Given the description of an element on the screen output the (x, y) to click on. 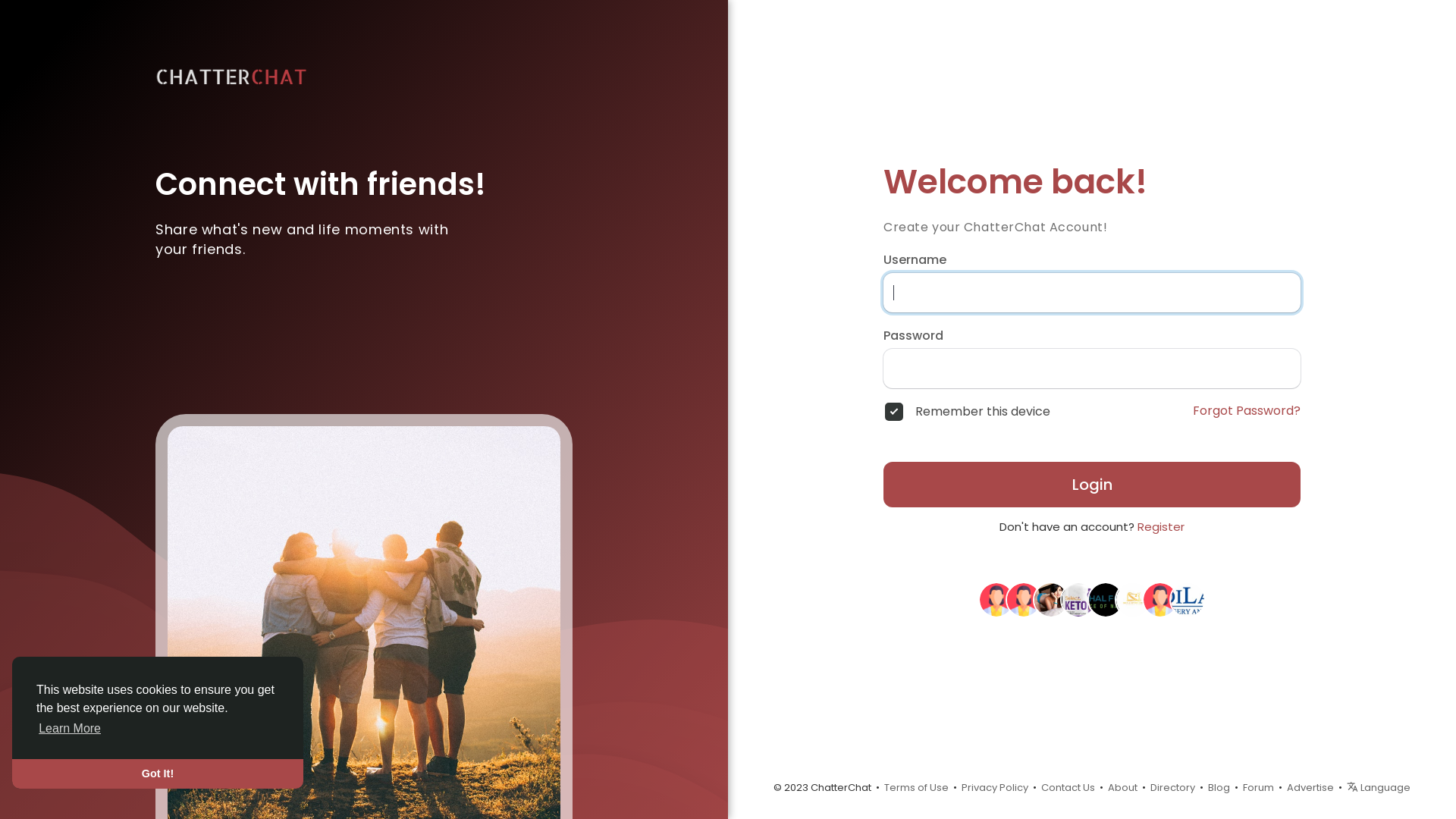
Got It! Element type: text (157, 773)
RealVitaKeto Element type: hover (996, 598)
Donnaa Barnett Element type: hover (1078, 598)
Learn More Element type: text (69, 728)
Contact Us Element type: text (1068, 787)
MedilaserCosmeticSurgery VeinCenter Element type: hover (1187, 598)
Register Element type: text (1160, 526)
andylrivera Element type: hover (1159, 598)
NuuDermaCream Element type: hover (1023, 598)
Terms of Use Element type: text (916, 787)
parulsinha Element type: hover (1050, 598)
Language Element type: text (1378, 787)
About Element type: text (1122, 787)
Directory Element type: text (1172, 787)
Srinath064 Element type: hover (1105, 598)
Advertise Element type: text (1309, 787)
Login Element type: text (1091, 484)
Privacy Policy Element type: text (994, 787)
Blog Element type: text (1219, 787)
Forum Element type: text (1258, 787)
Forgot Password? Element type: text (1246, 411)
